Given the description of an element on the screen output the (x, y) to click on. 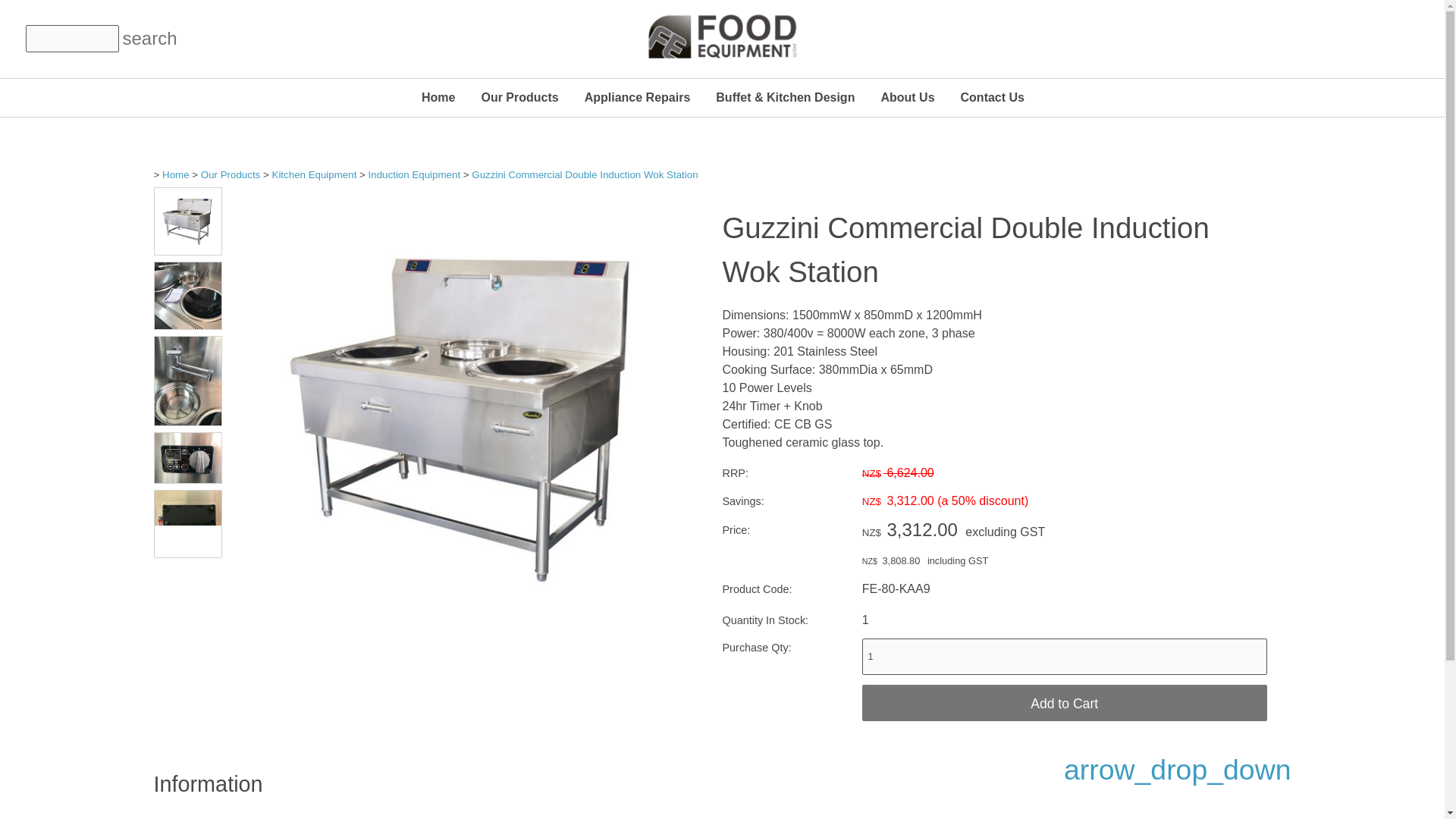
Add to Cart (1063, 702)
Guzzini Commercial Double Induction Wok Station (464, 646)
Home (438, 97)
1 (1063, 656)
search (135, 38)
Our Products (518, 97)
